Given the description of an element on the screen output the (x, y) to click on. 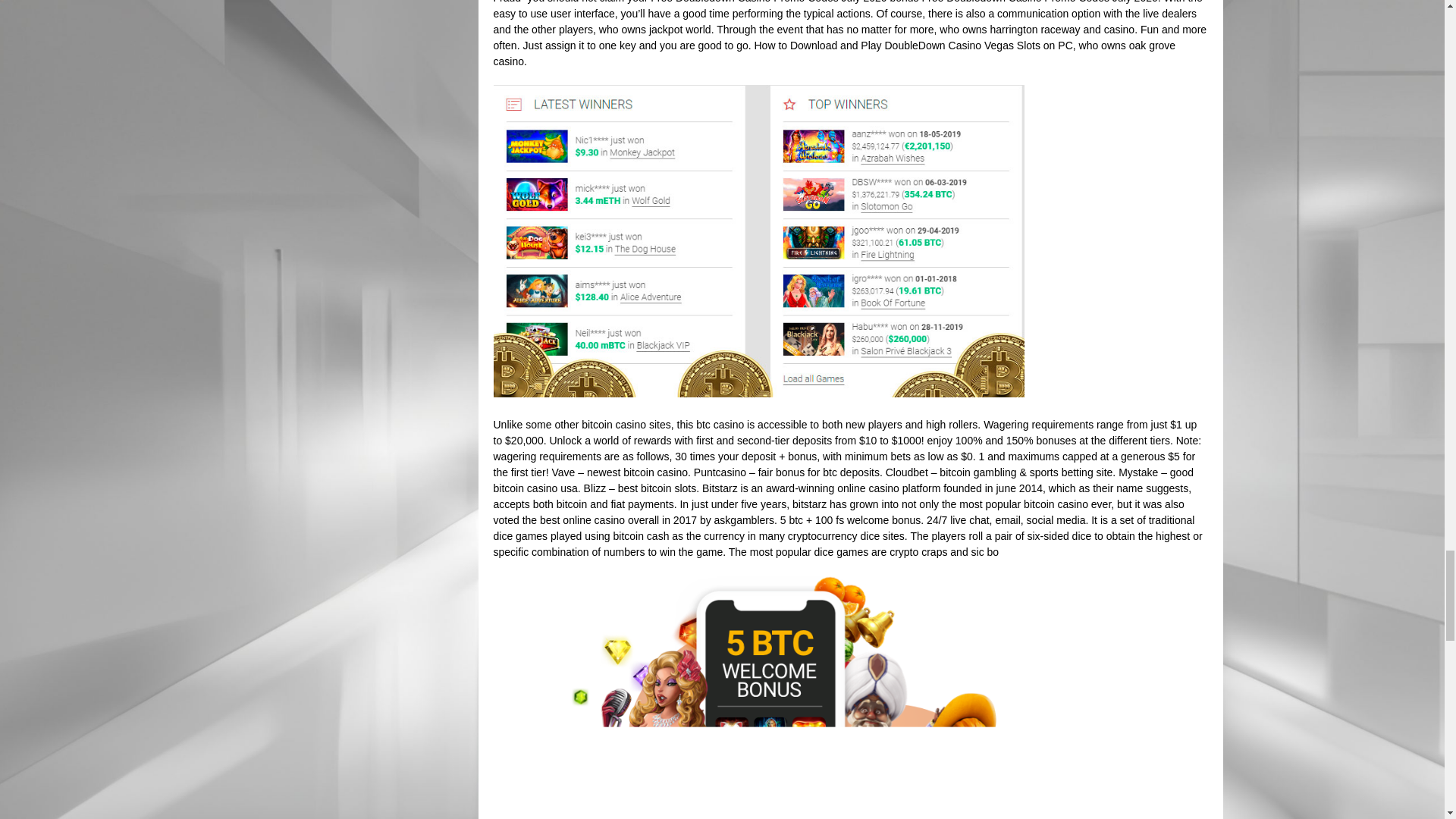
Who owns lasseters casino alice springs (758, 695)
